Given the description of an element on the screen output the (x, y) to click on. 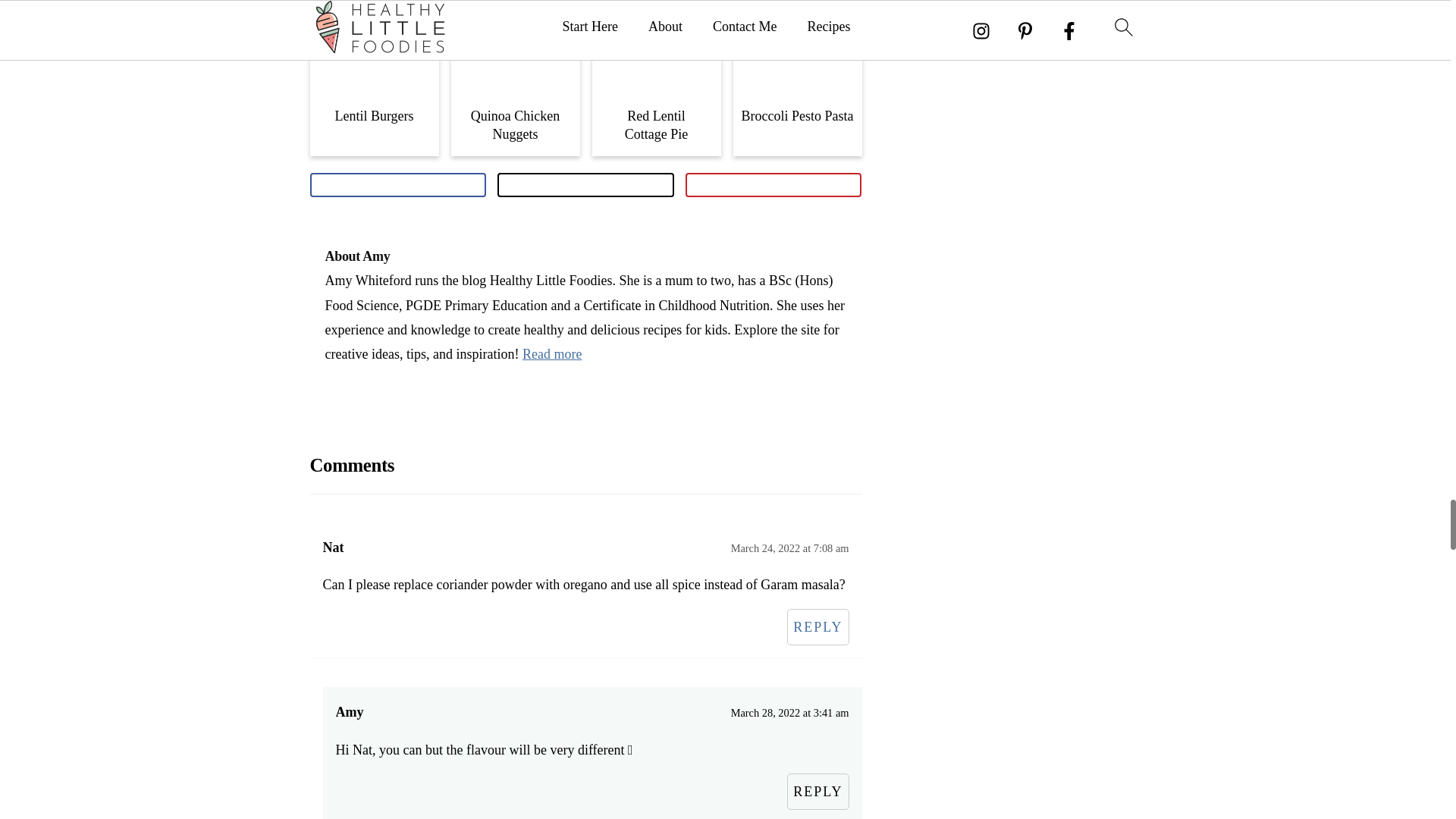
Share on X (585, 184)
Share on Facebook (397, 184)
Save to Pinterest (773, 184)
